Given the description of an element on the screen output the (x, y) to click on. 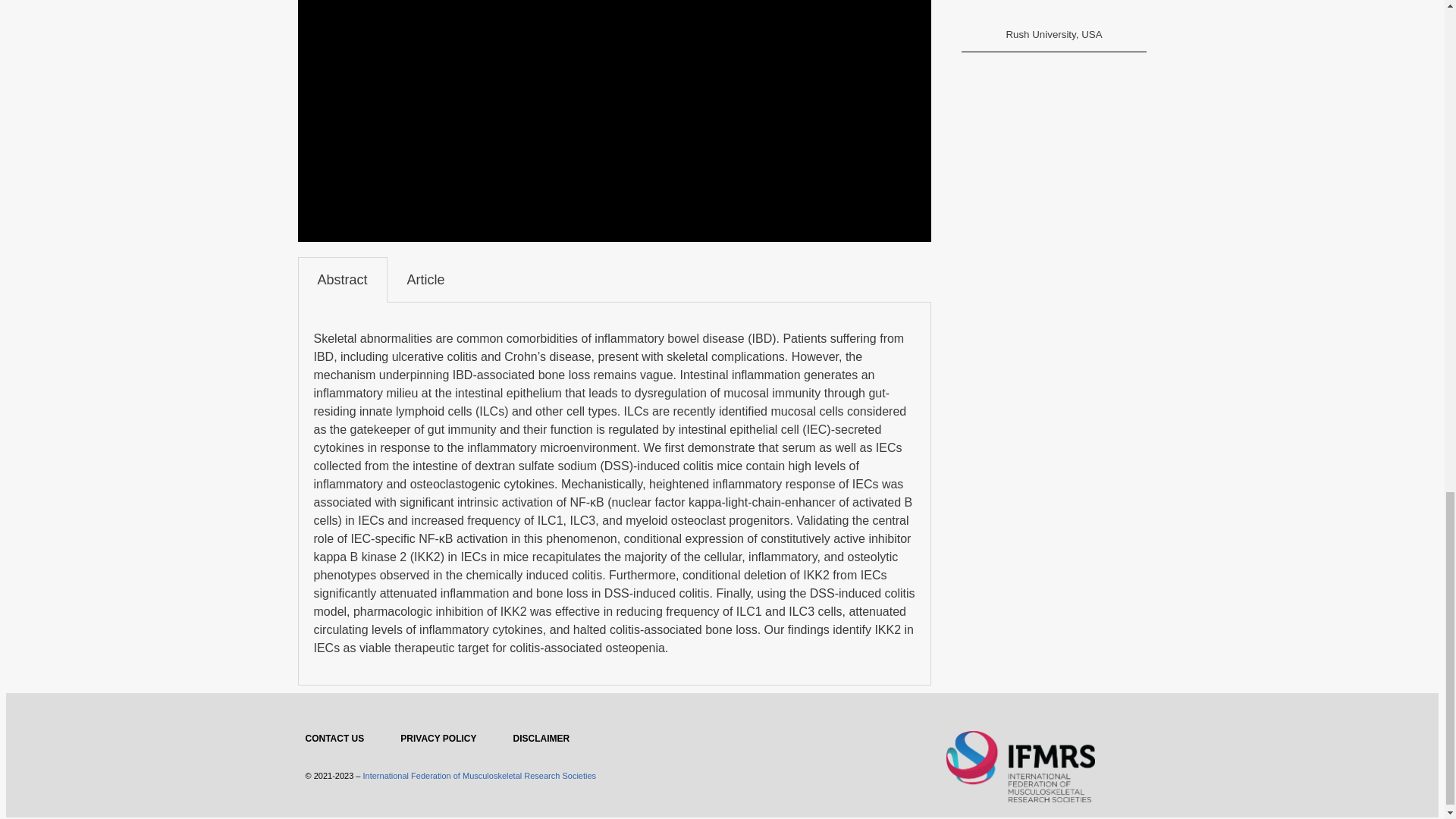
PRIVACY POLICY (438, 738)
DISCLAIMER (541, 738)
Scroll back to top (1406, 277)
CONTACT US (333, 738)
